Given the description of an element on the screen output the (x, y) to click on. 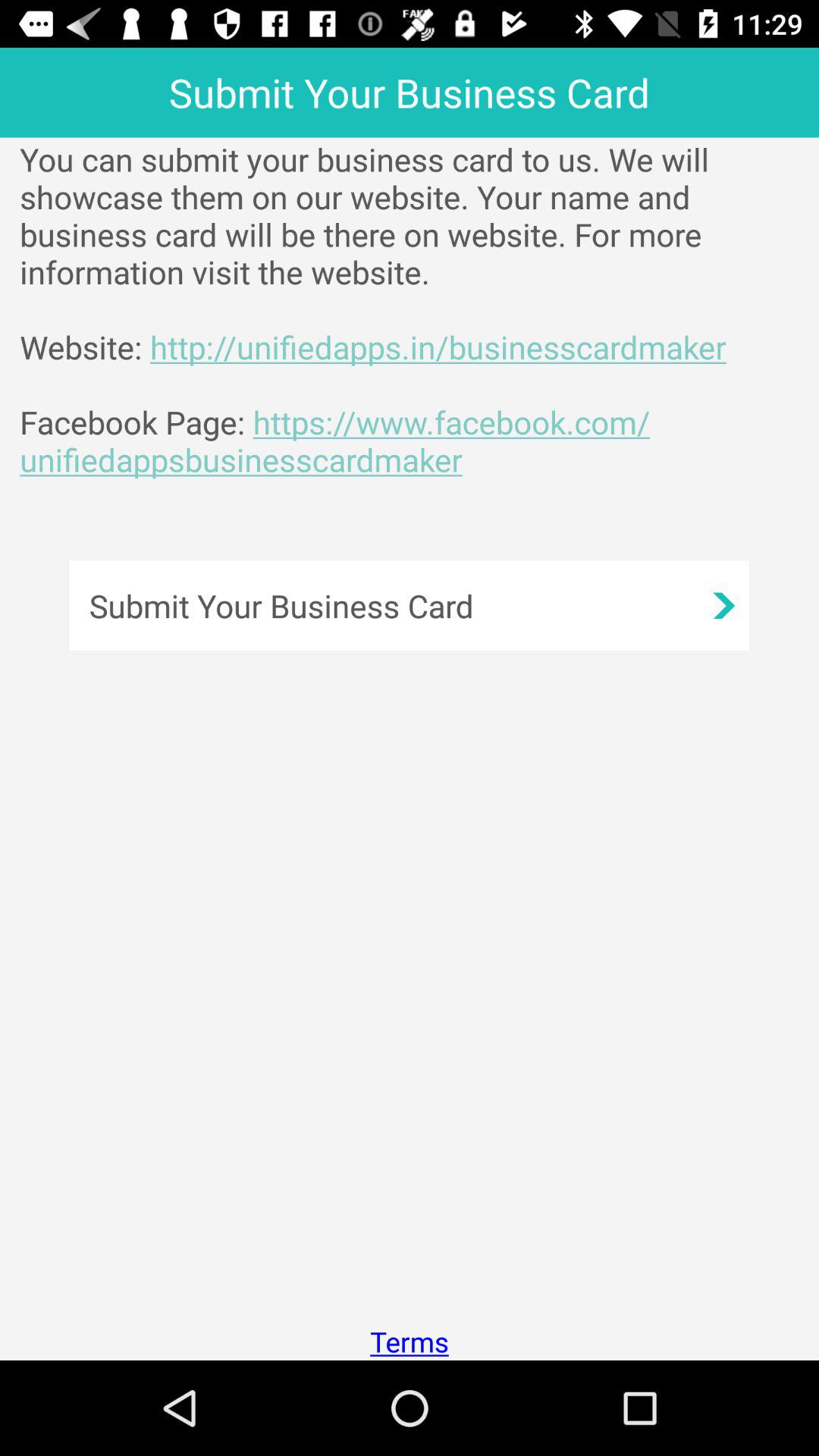
click item above the submit your business app (419, 309)
